Given the description of an element on the screen output the (x, y) to click on. 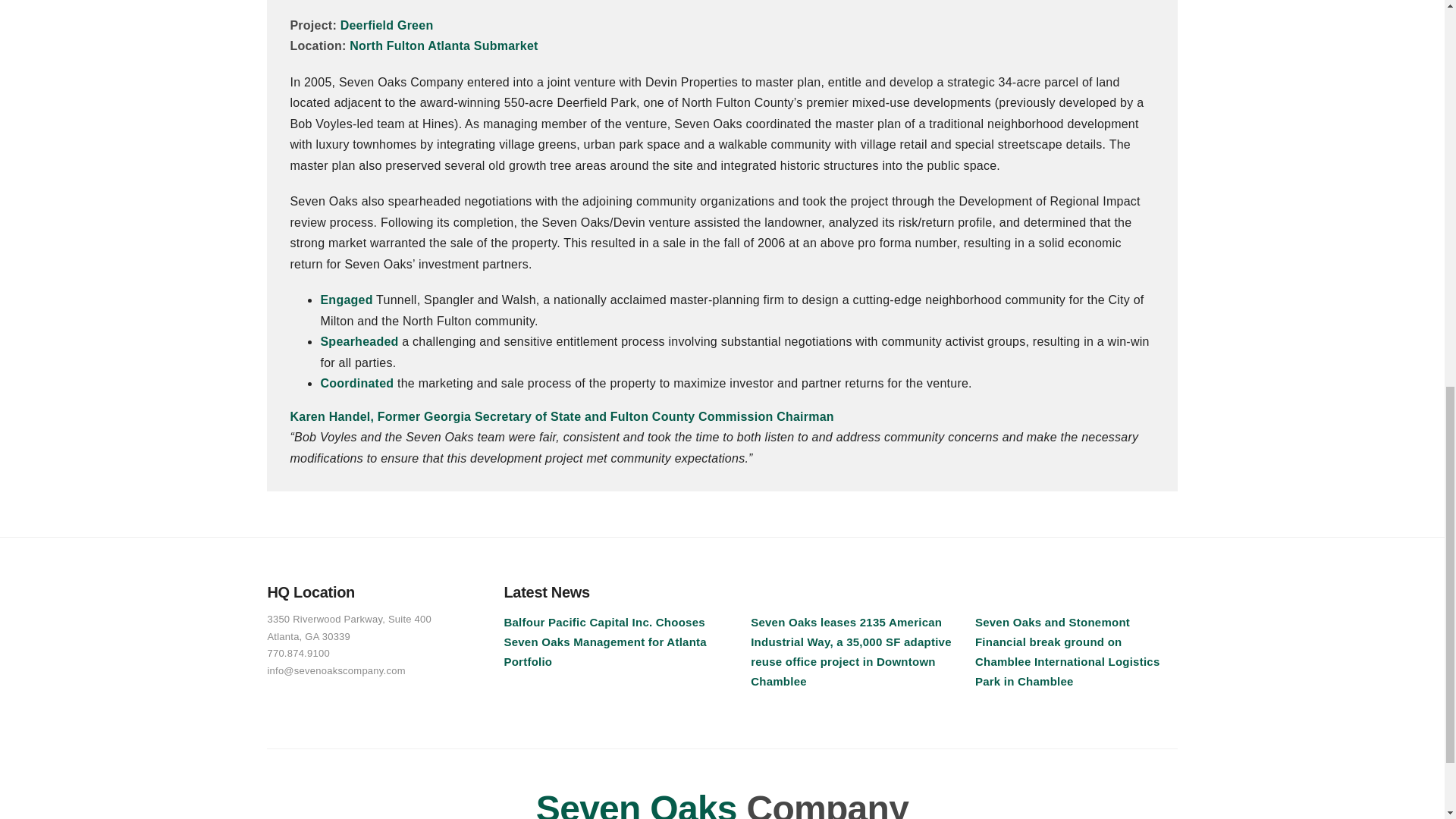
Seven Oaks Company (721, 803)
